Given the description of an element on the screen output the (x, y) to click on. 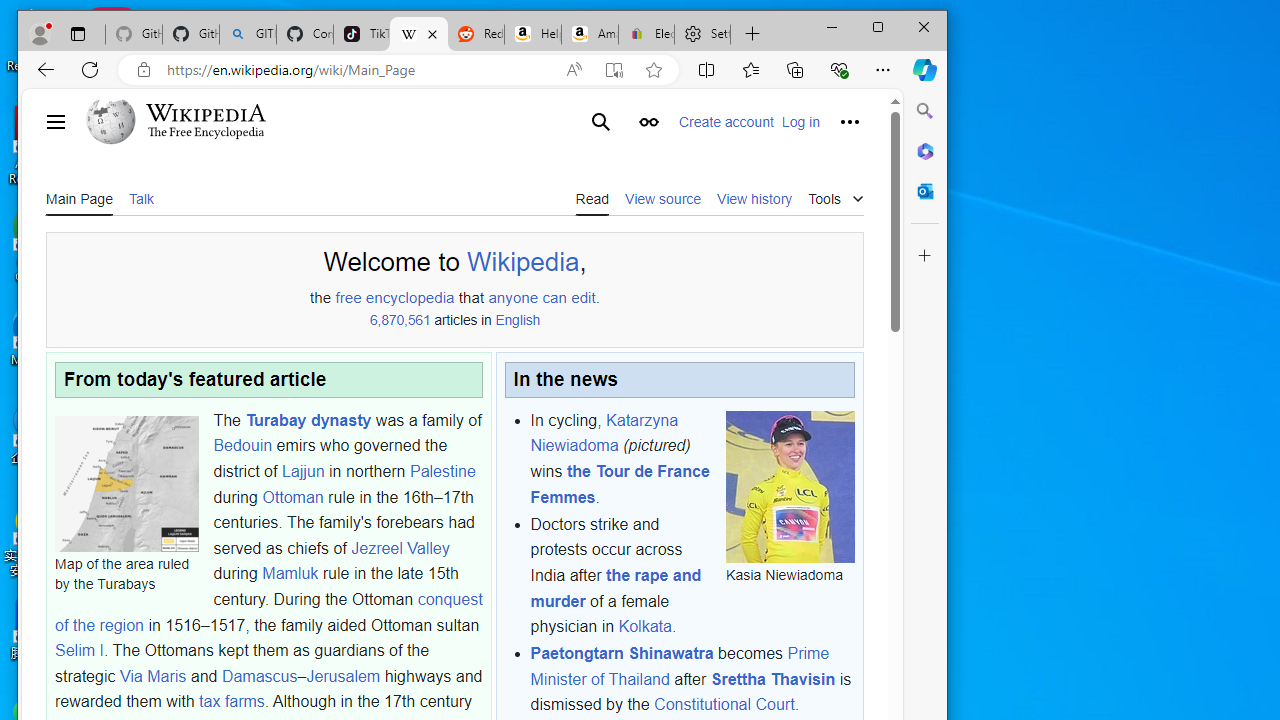
Jezreel Valley (400, 548)
Log in (800, 121)
Via Maris (152, 675)
Turabay dynasty (308, 420)
Personal tools (849, 122)
Kasia Niewiadoma (790, 486)
encyclopedia (409, 297)
Mamluk (290, 574)
Bedouin (242, 446)
GITHUB - Search (248, 34)
Log in (800, 121)
